Given the description of an element on the screen output the (x, y) to click on. 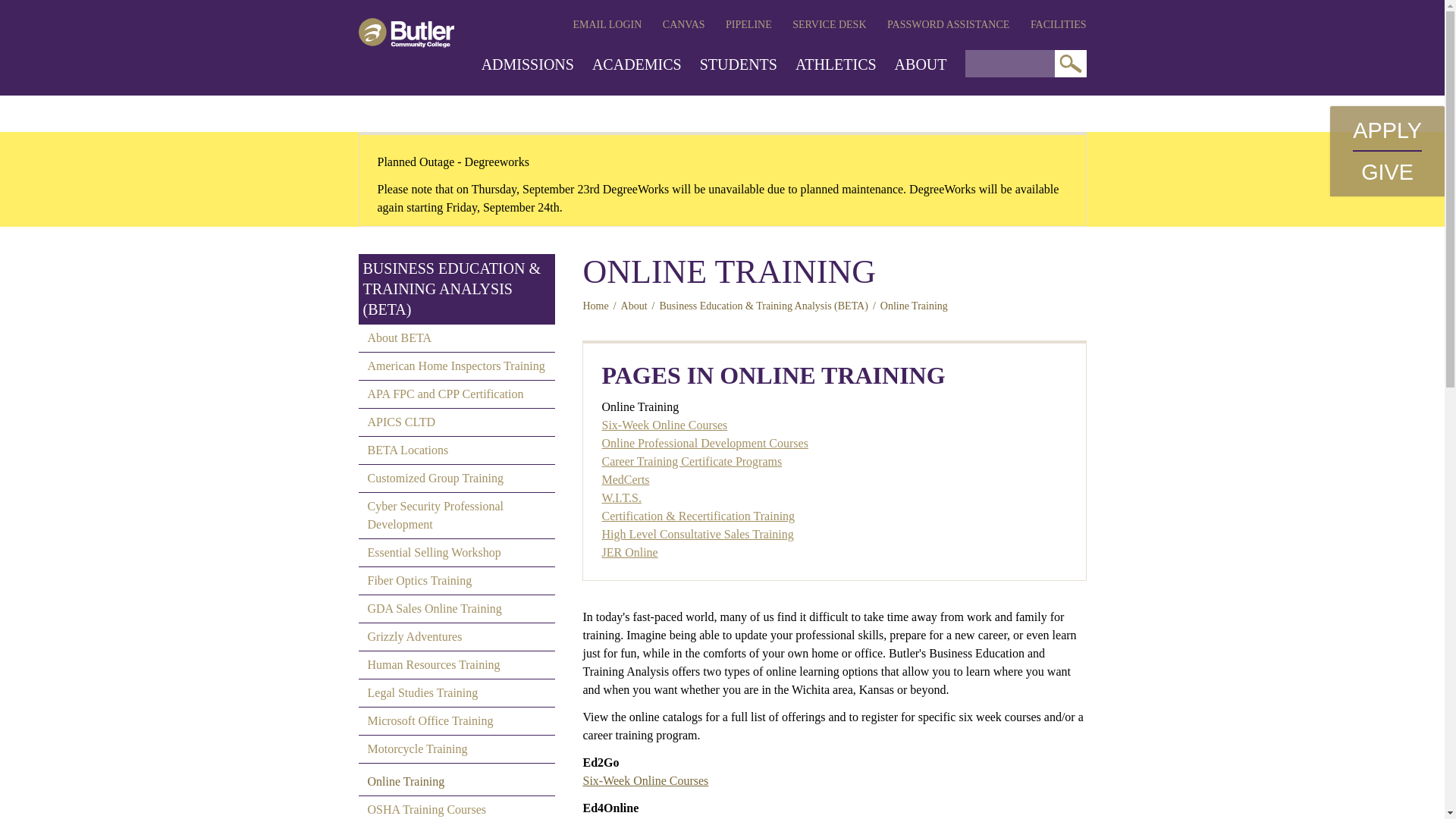
ACADEMICS (636, 64)
Apply Now (1387, 129)
Six-Week Online Courses (644, 780)
Butler Community College (405, 32)
ADMISSIONS (527, 64)
Give Now (1387, 171)
